Given the description of an element on the screen output the (x, y) to click on. 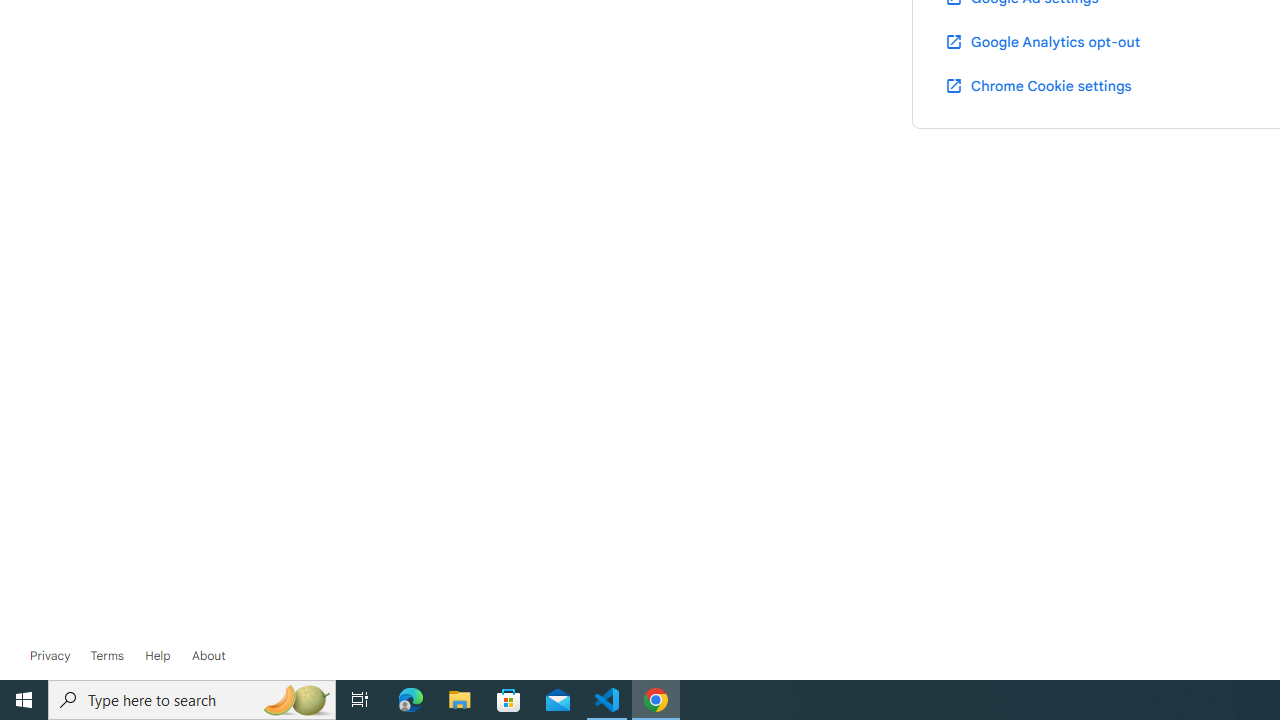
Google Analytics opt-out (1041, 41)
Chrome Cookie settings (1037, 85)
Learn more about Google Account (208, 655)
